Given the description of an element on the screen output the (x, y) to click on. 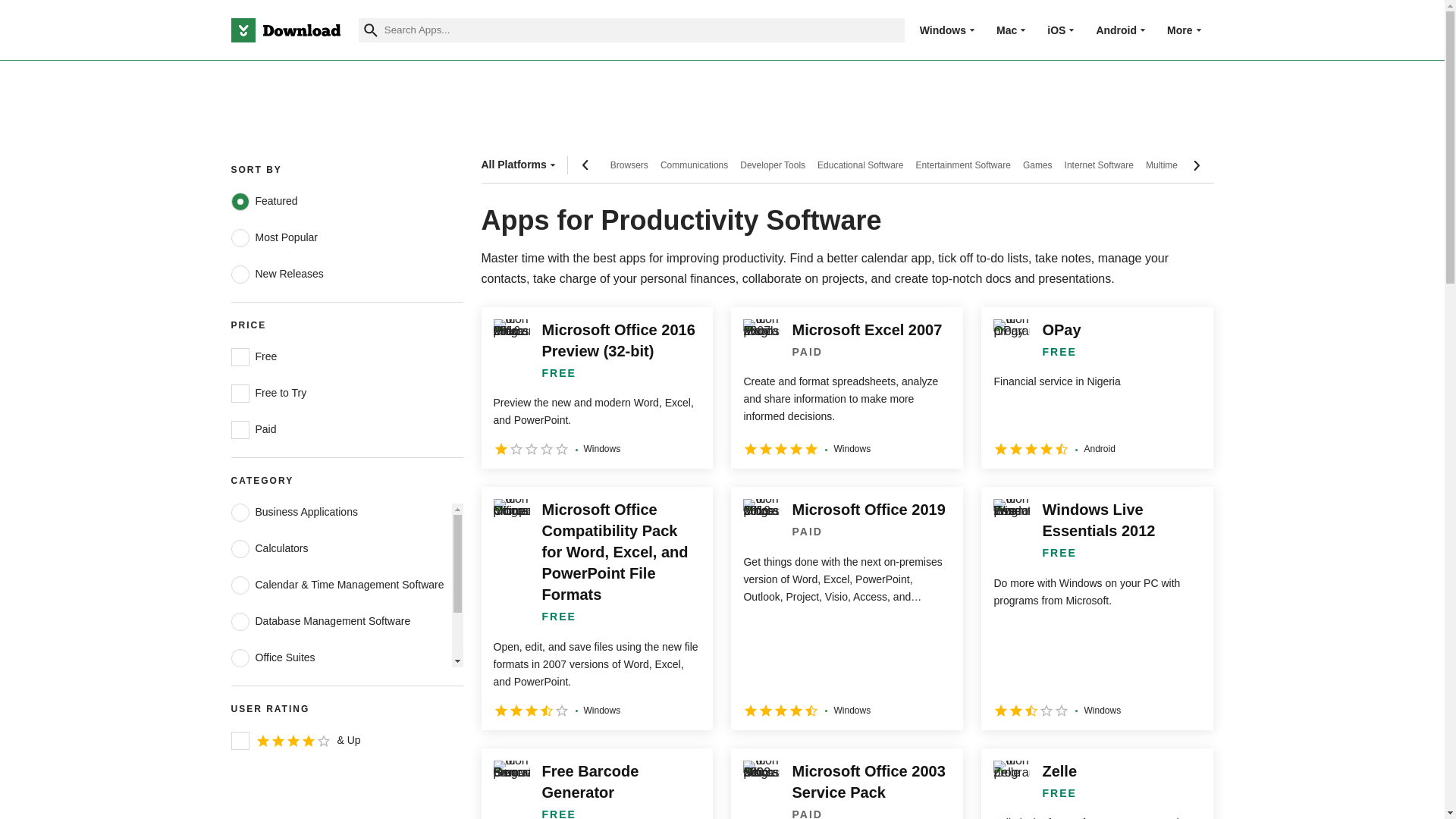
featured (239, 201)
Microsoft Excel 2007 (846, 387)
free (239, 357)
business-databases (239, 621)
business-office-suites (239, 658)
business-applications (239, 512)
paid (239, 429)
Microsoft Office 2019 (846, 607)
Free Barcode Generator (596, 783)
freeToTry (239, 393)
